Given the description of an element on the screen output the (x, y) to click on. 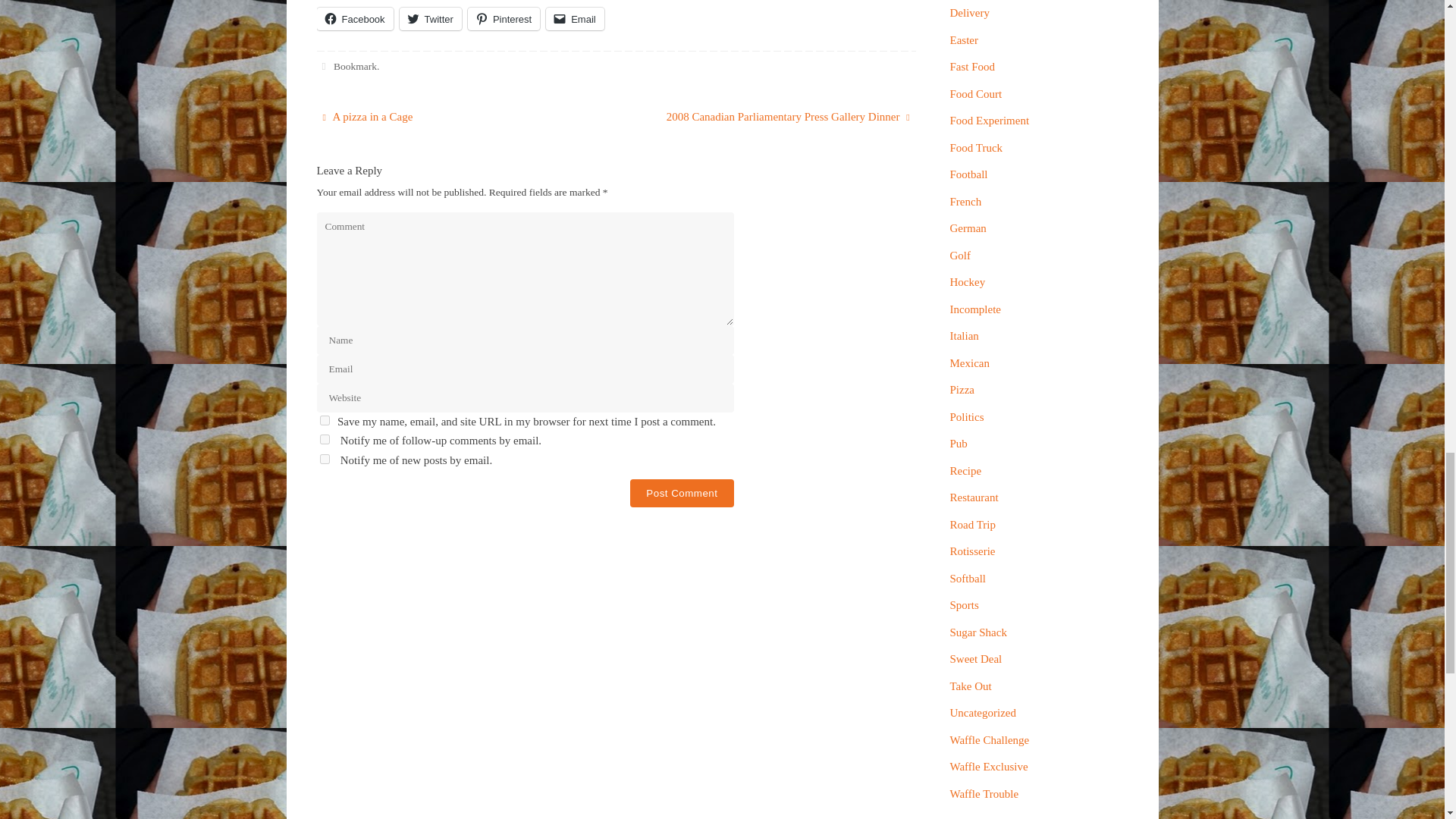
Bookmark (355, 66)
Facebook (355, 18)
Click to share on Facebook (355, 18)
subscribe (325, 439)
Twitter (429, 18)
Post Comment (681, 492)
subscribe (325, 459)
yes (325, 420)
2008 Canadian Parliamentary Press Gallery Dinner (774, 117)
Email (575, 18)
